Given the description of an element on the screen output the (x, y) to click on. 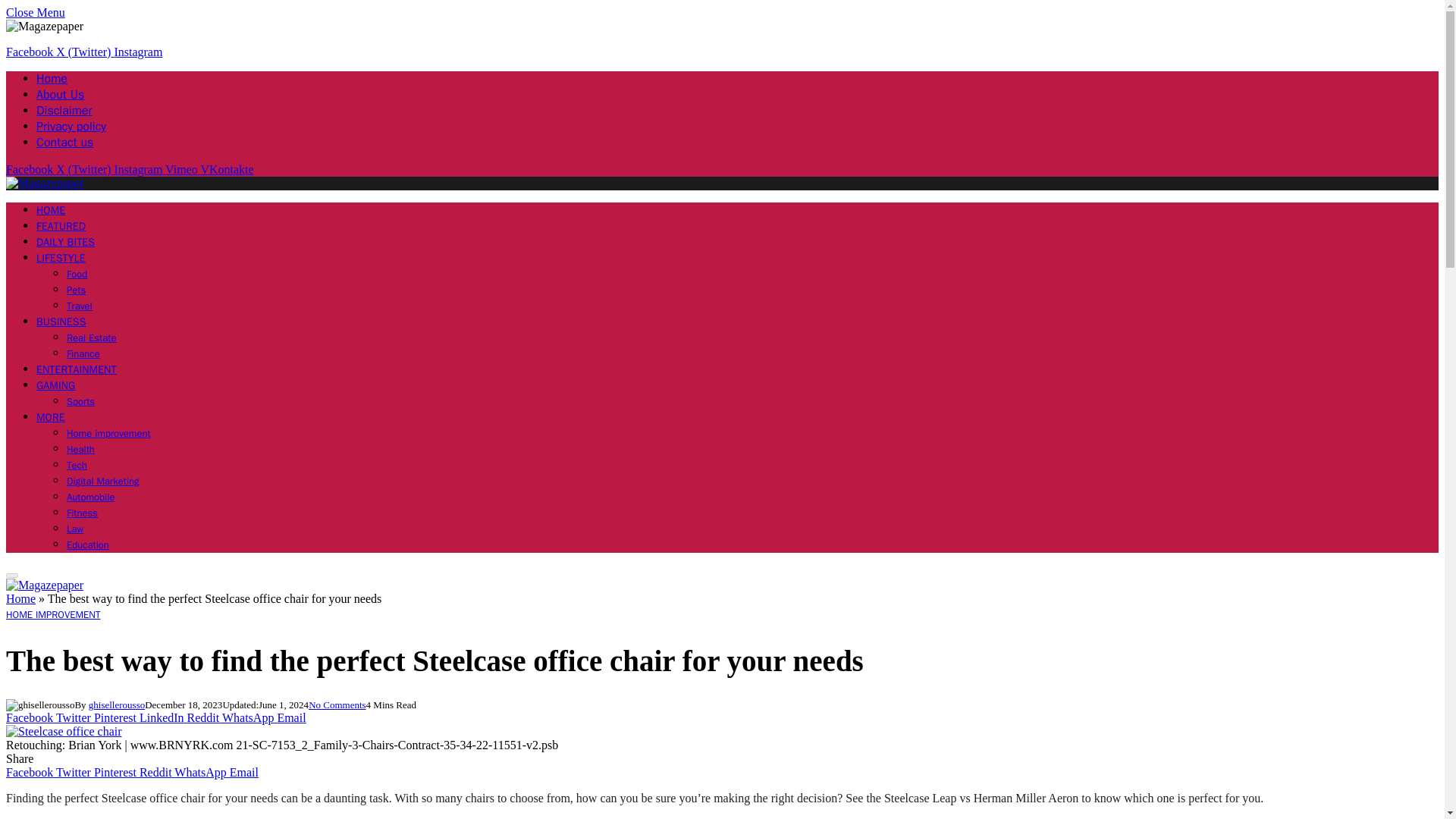
Home (51, 78)
Magazepaper (43, 584)
Vimeo (182, 169)
MORE (50, 417)
Privacy policy (71, 126)
Real Estate (91, 337)
Pets (75, 289)
Share on Pinterest (116, 717)
Sports (80, 400)
Share on Reddit (204, 717)
Health (80, 449)
Share on LinkedIn (163, 717)
LIFESTYLE (60, 257)
GAMING (55, 385)
FEATURED (60, 226)
